Given the description of an element on the screen output the (x, y) to click on. 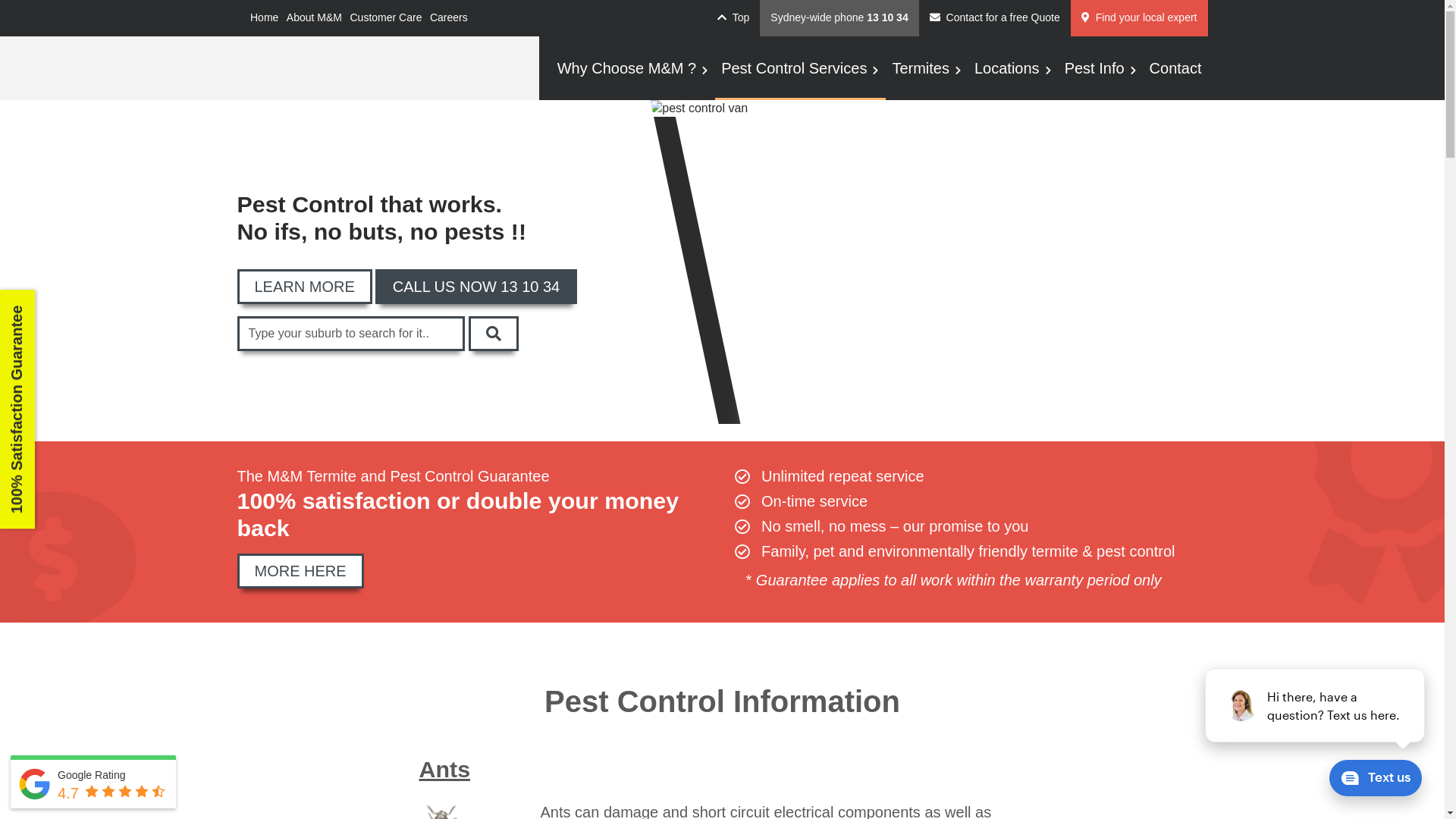
podium webchat widget prompt Element type: hover (1315, 705)
Customer Care Element type: text (385, 18)
Sydney-wide phone 13 10 34 Element type: text (838, 18)
Contact Element type: text (1175, 68)
Why Choose M&M ? Element type: text (633, 68)
Ants Element type: text (444, 768)
Contact for a free Quote Element type: text (994, 18)
MORE HERE Element type: text (299, 570)
LEARN MORE Element type: text (303, 286)
Home Element type: text (263, 18)
Top Element type: text (732, 18)
Pest Control Services Element type: text (800, 68)
Pest Info Element type: text (1100, 68)
Skip to content Element type: text (0, 0)
About M&M Element type: text (313, 18)
Locations Element type: text (1013, 68)
CALL US NOW 13 10 34 Element type: text (476, 286)
Find your local expert Element type: text (1139, 18)
Termites Element type: text (926, 68)
Careers Element type: text (448, 18)
